Given the description of an element on the screen output the (x, y) to click on. 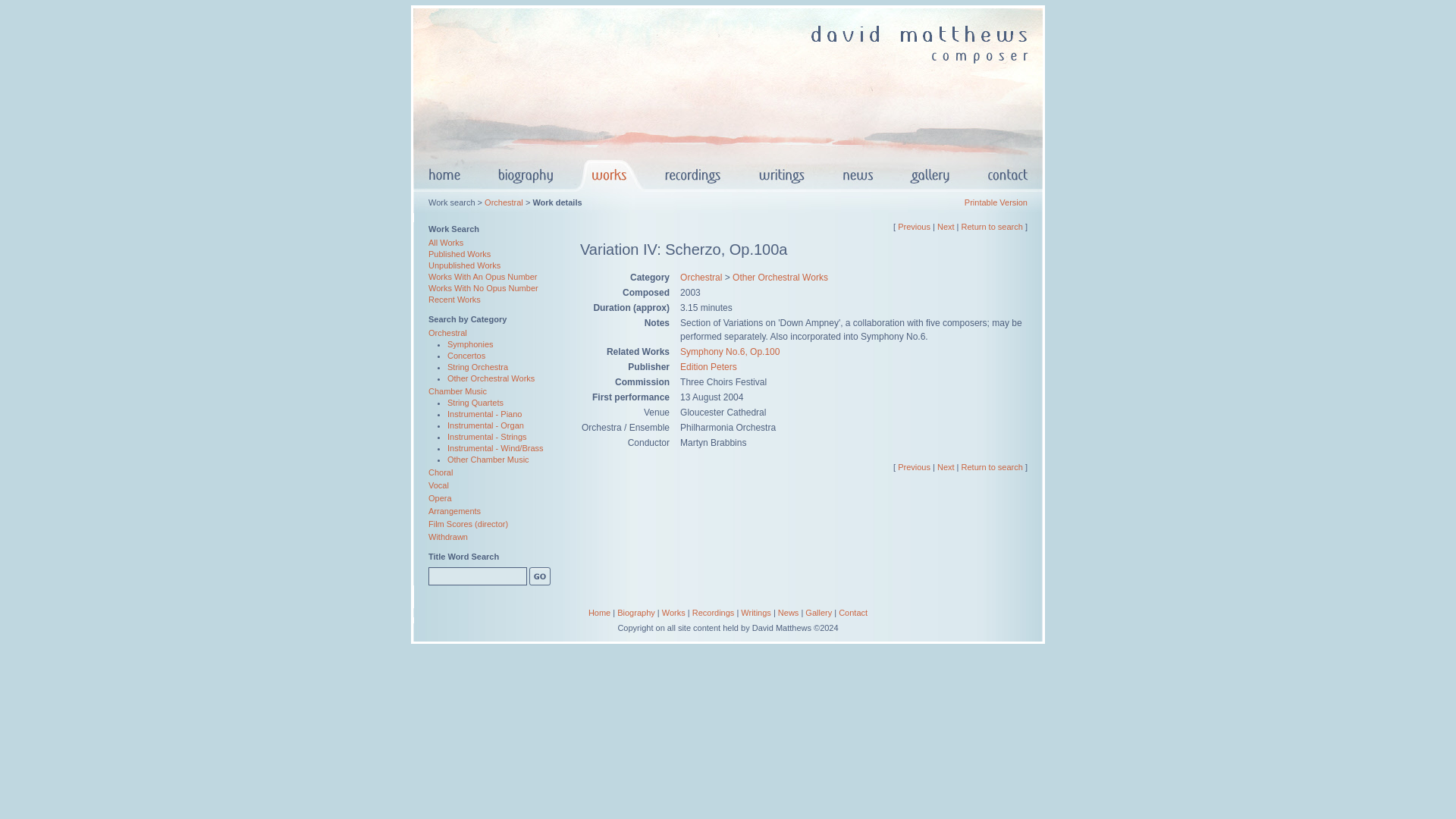
Unpublished Works (464, 265)
Symphony No.6, Op.100 (728, 351)
Instrumental - Organ (485, 424)
Other Orchestral Works (780, 276)
Previous (914, 225)
Orchestral (447, 332)
Orchestral (503, 202)
Concertos (465, 355)
Other Chamber Music (487, 459)
Opera (439, 497)
